Given the description of an element on the screen output the (x, y) to click on. 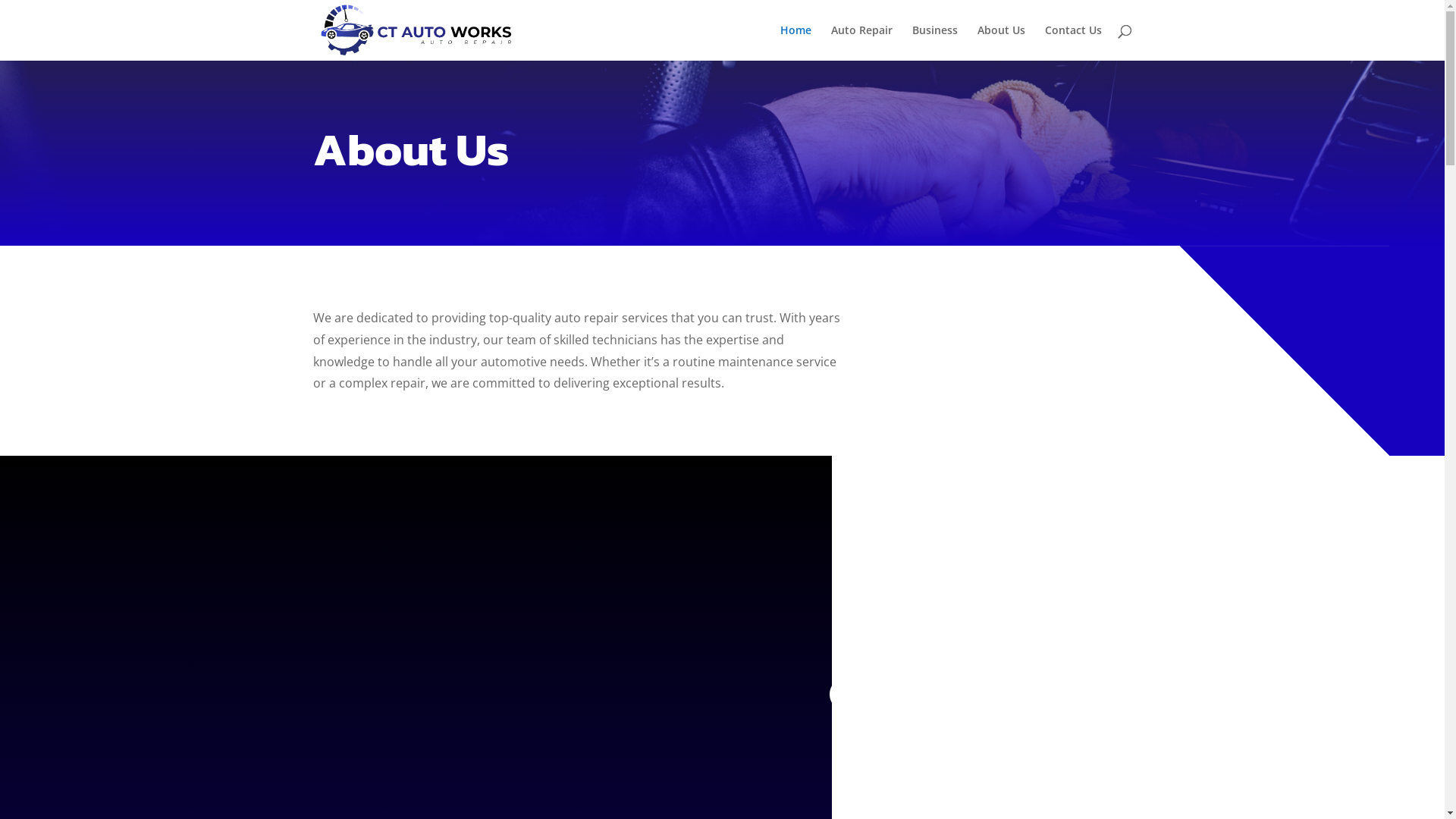
Auto Repair Element type: text (861, 42)
Contact Us Element type: text (1072, 42)
Home Element type: text (794, 42)
Business Element type: text (934, 42)
About Us Element type: text (1000, 42)
